Given the description of an element on the screen output the (x, y) to click on. 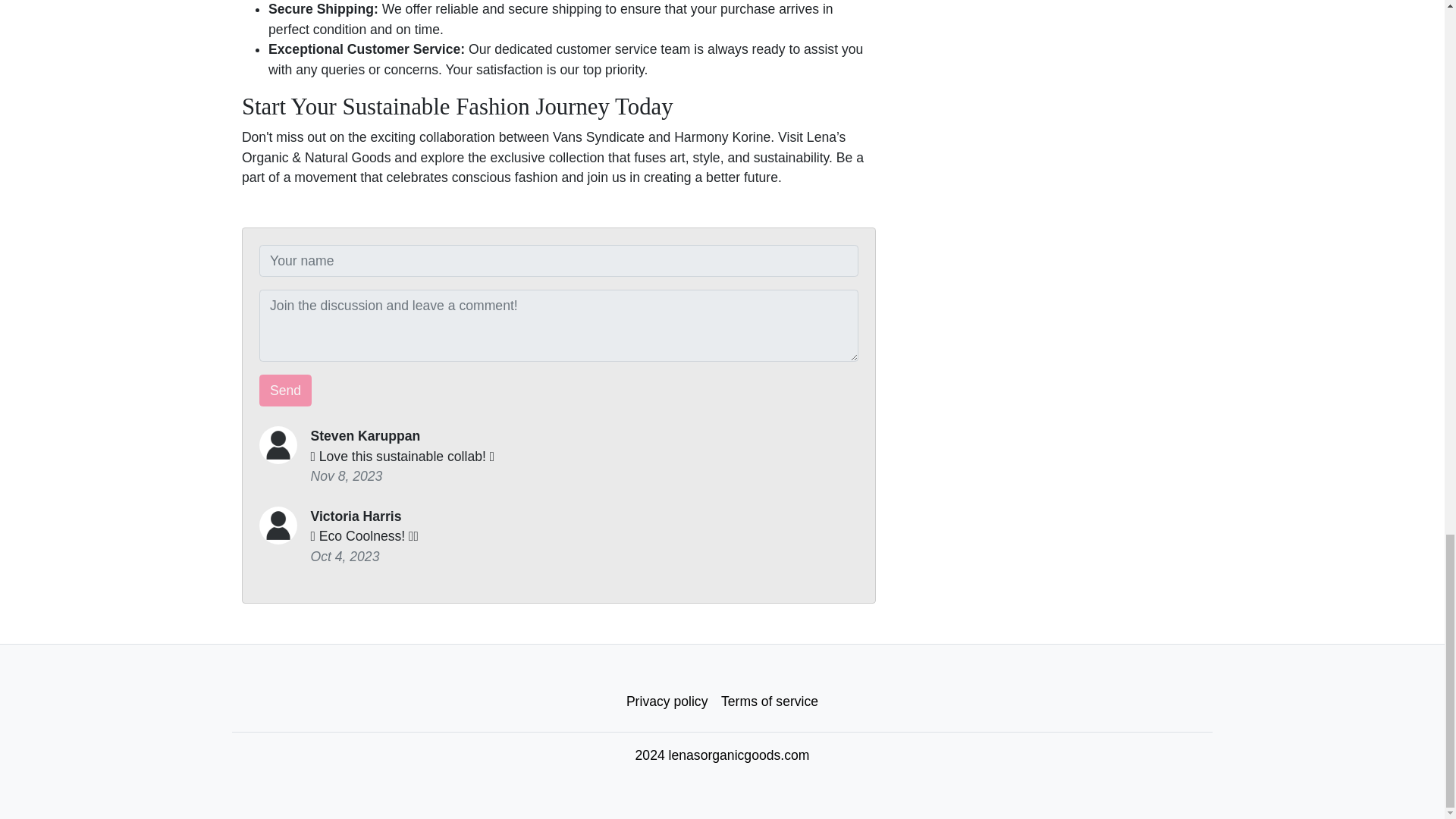
Send (285, 390)
Privacy policy (667, 701)
Send (285, 390)
Terms of service (769, 701)
